Given the description of an element on the screen output the (x, y) to click on. 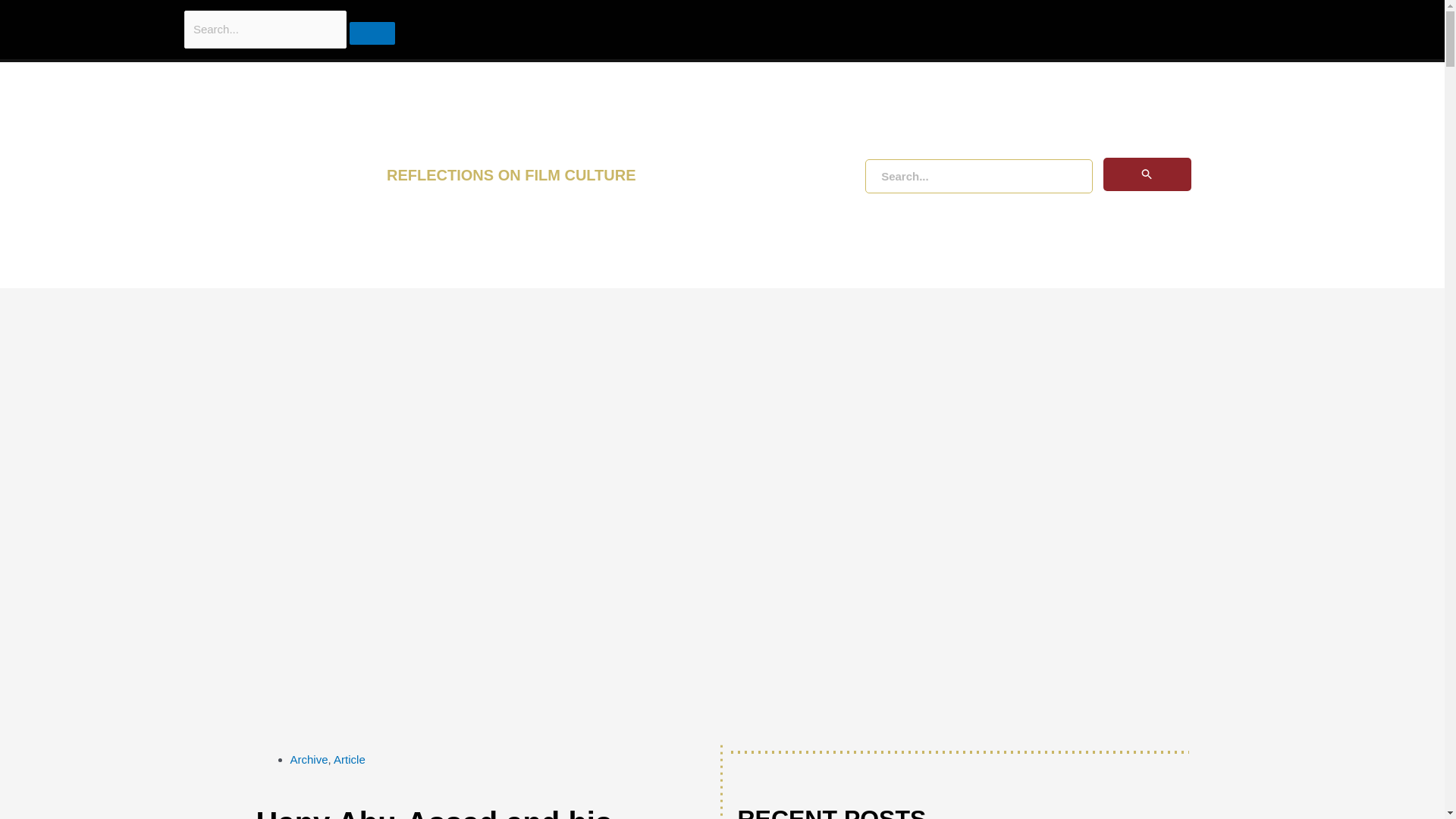
Search (113, 17)
Archive (308, 758)
Article (349, 758)
Search (371, 33)
